Given the description of an element on the screen output the (x, y) to click on. 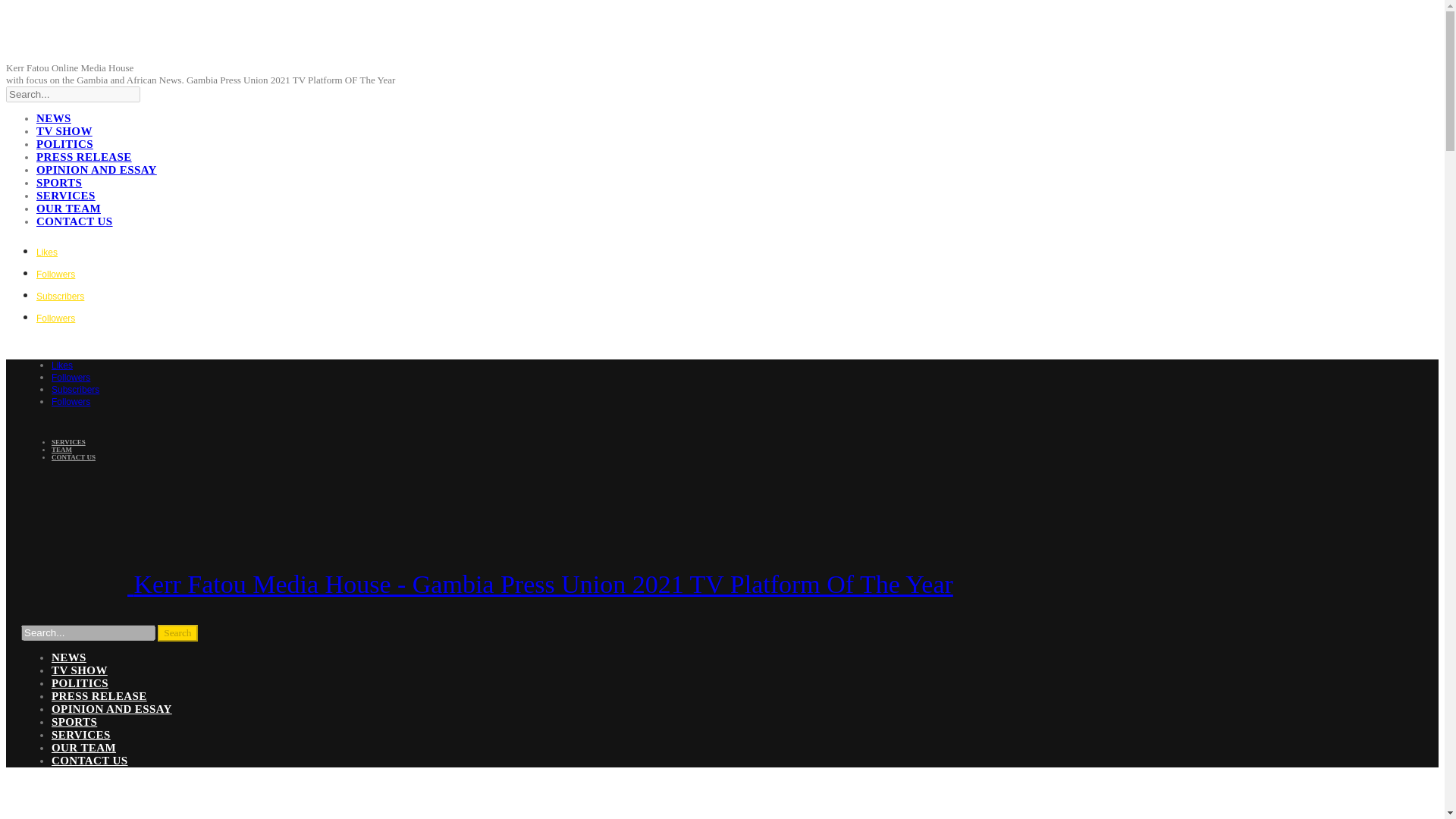
CONTACT US (89, 760)
CONTACT US (73, 457)
Followers (55, 273)
Followers (70, 401)
PRESS RELEASE (98, 695)
SERVICES (80, 734)
SERVICES (66, 195)
OPINION AND ESSAY (96, 169)
Likes (47, 251)
TV SHOW (78, 670)
